Given the description of an element on the screen output the (x, y) to click on. 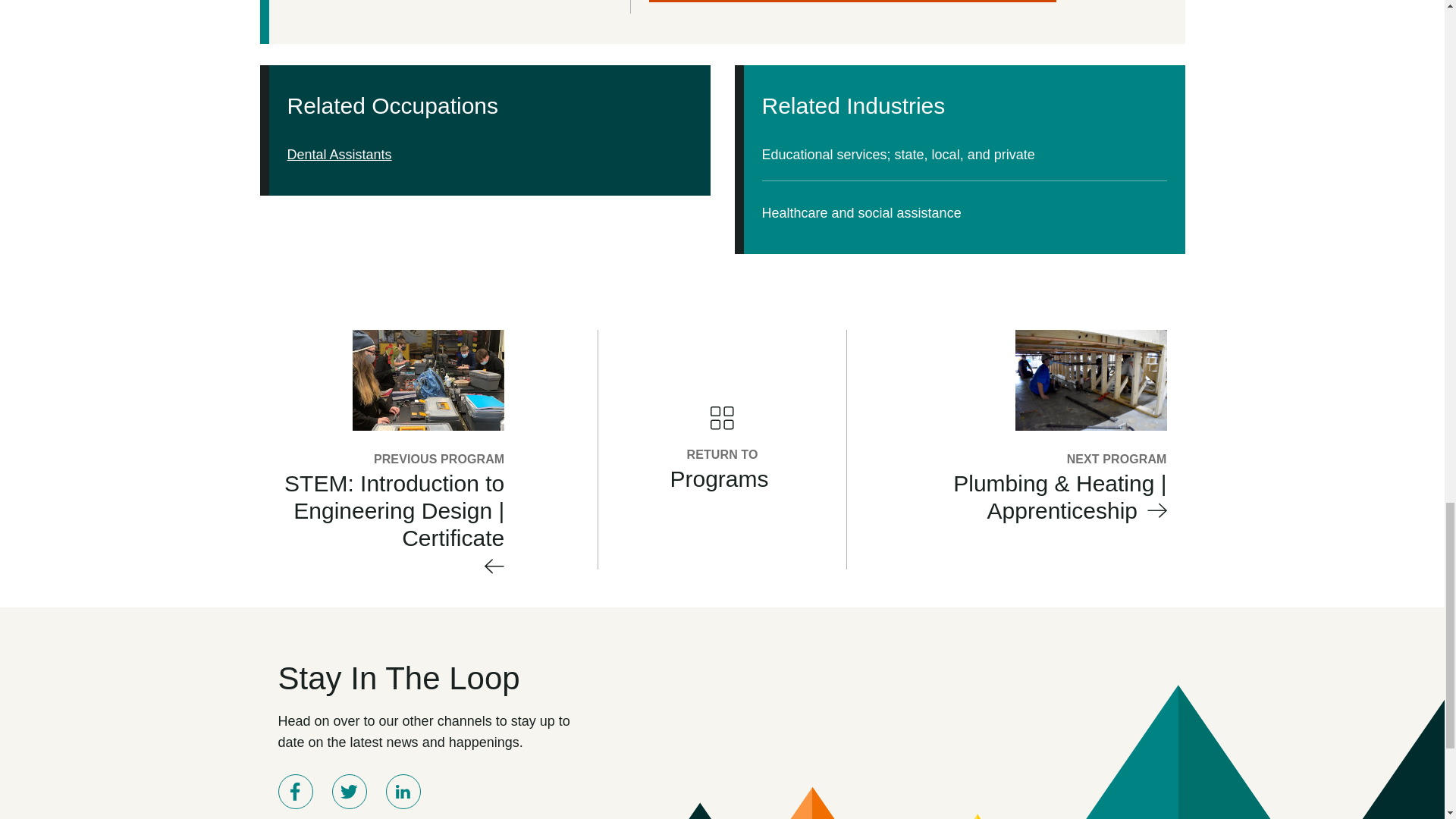
LEFT ARROW (493, 565)
TWITTER (349, 791)
RIGHT ARROW (1156, 510)
LINKEDIN (403, 791)
RETURN TO BLOG PAGE (721, 417)
